Given the description of an element on the screen output the (x, y) to click on. 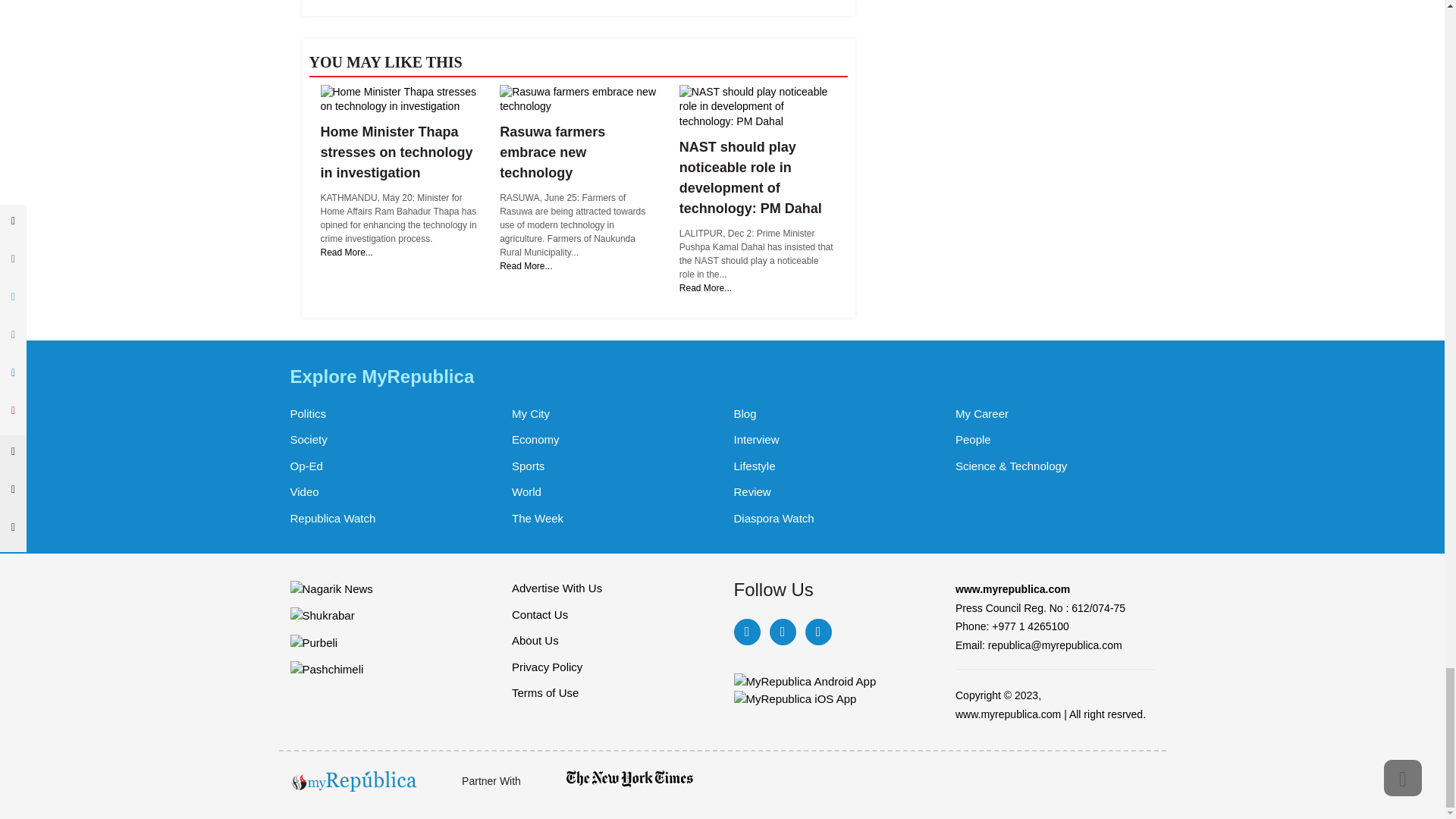
Youtube (818, 632)
Facebook (746, 632)
Twitter (781, 632)
